Given the description of an element on the screen output the (x, y) to click on. 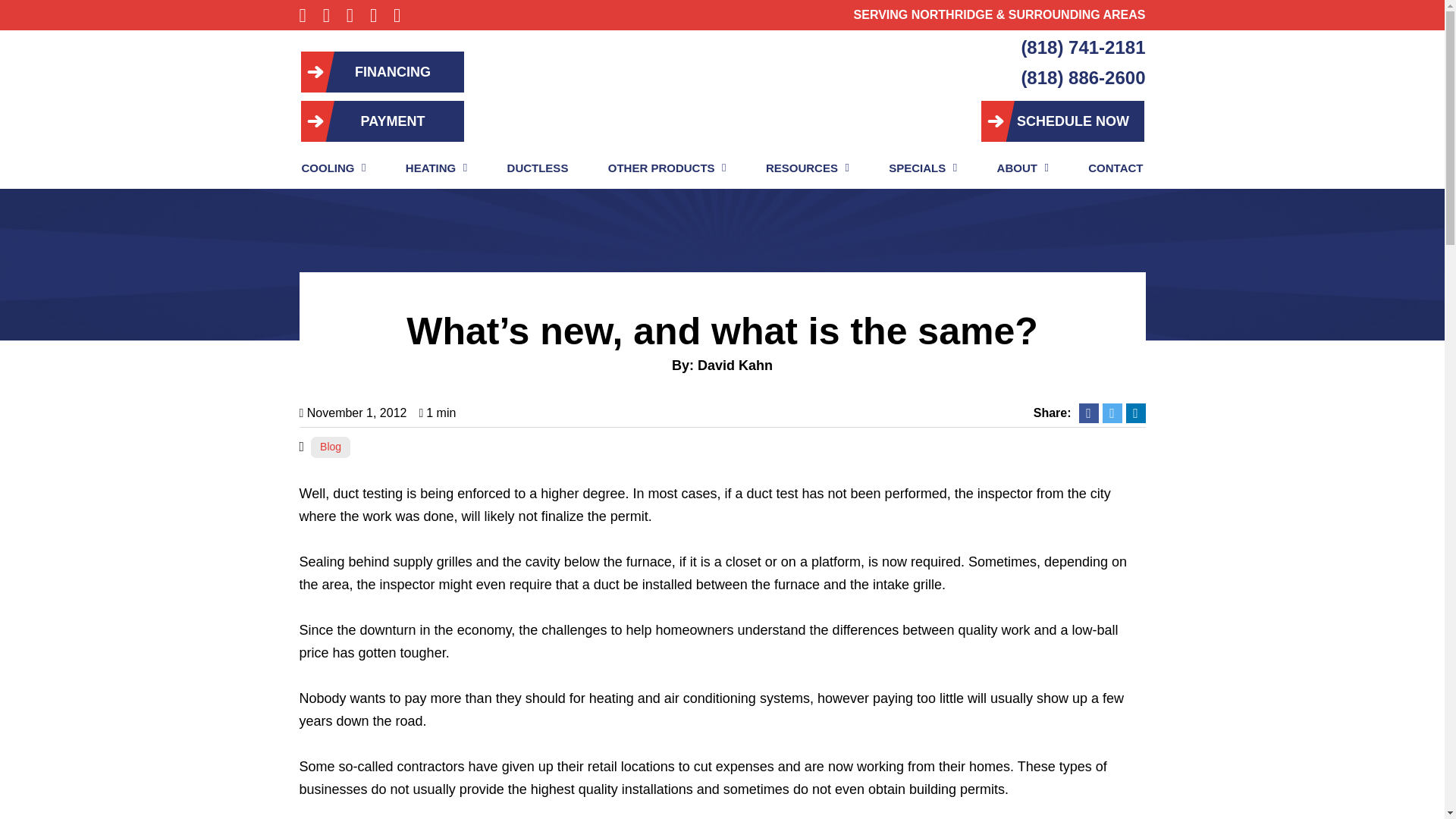
FINANCING (381, 71)
Kahn Air Conditioning (721, 92)
